Given the description of an element on the screen output the (x, y) to click on. 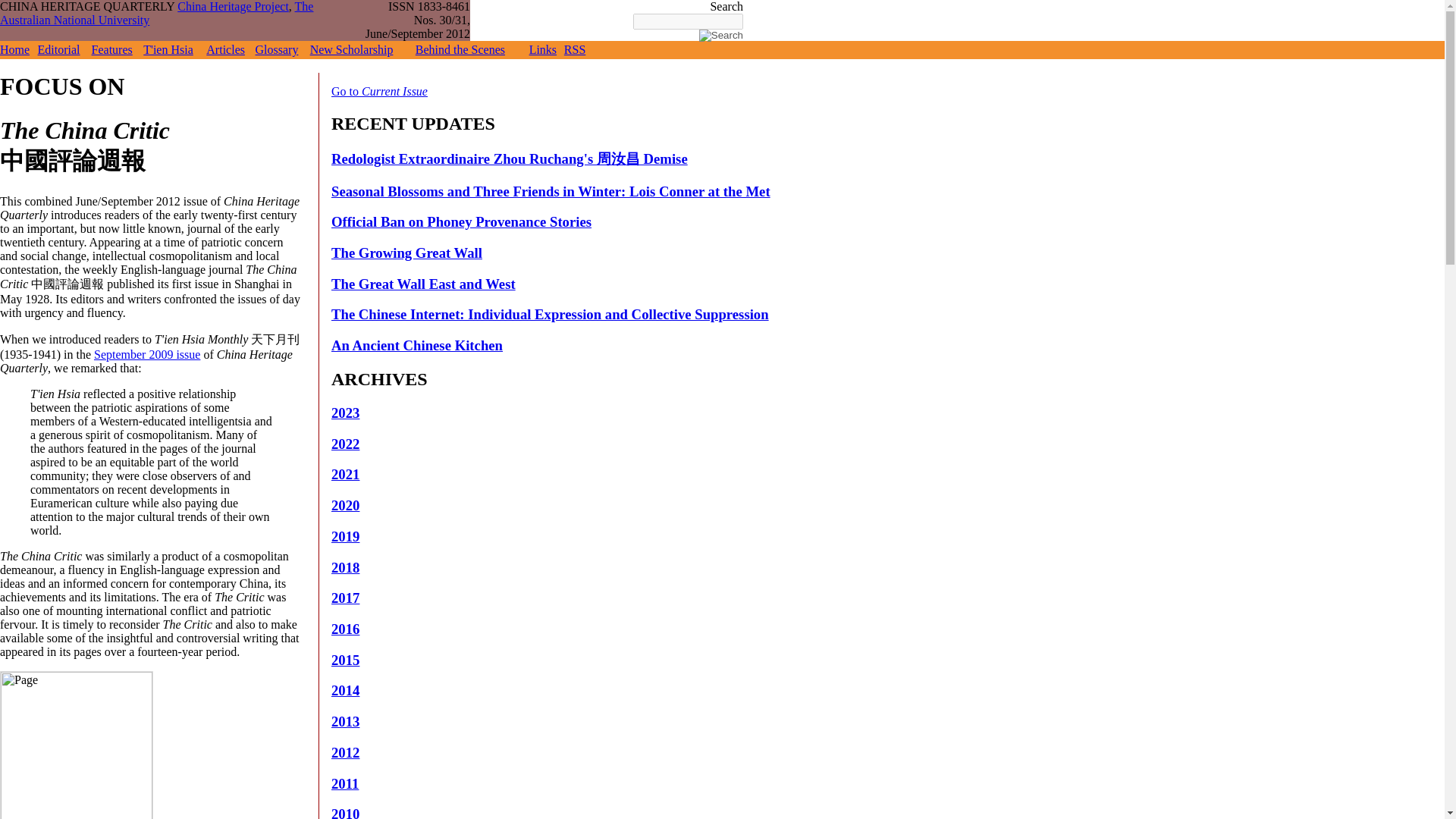
RSS (574, 49)
Official Ban on Phoney Provenance Stories (461, 221)
Search (720, 35)
Home (14, 49)
Glossary (277, 49)
Search (720, 35)
Features (111, 49)
Articles (225, 49)
Links (542, 49)
New Scholarship (351, 49)
Behind the Scenes (459, 49)
Editorial (58, 49)
T'ien Hsia (167, 49)
September 2009 issue (147, 354)
The Australian National University (156, 13)
